Given the description of an element on the screen output the (x, y) to click on. 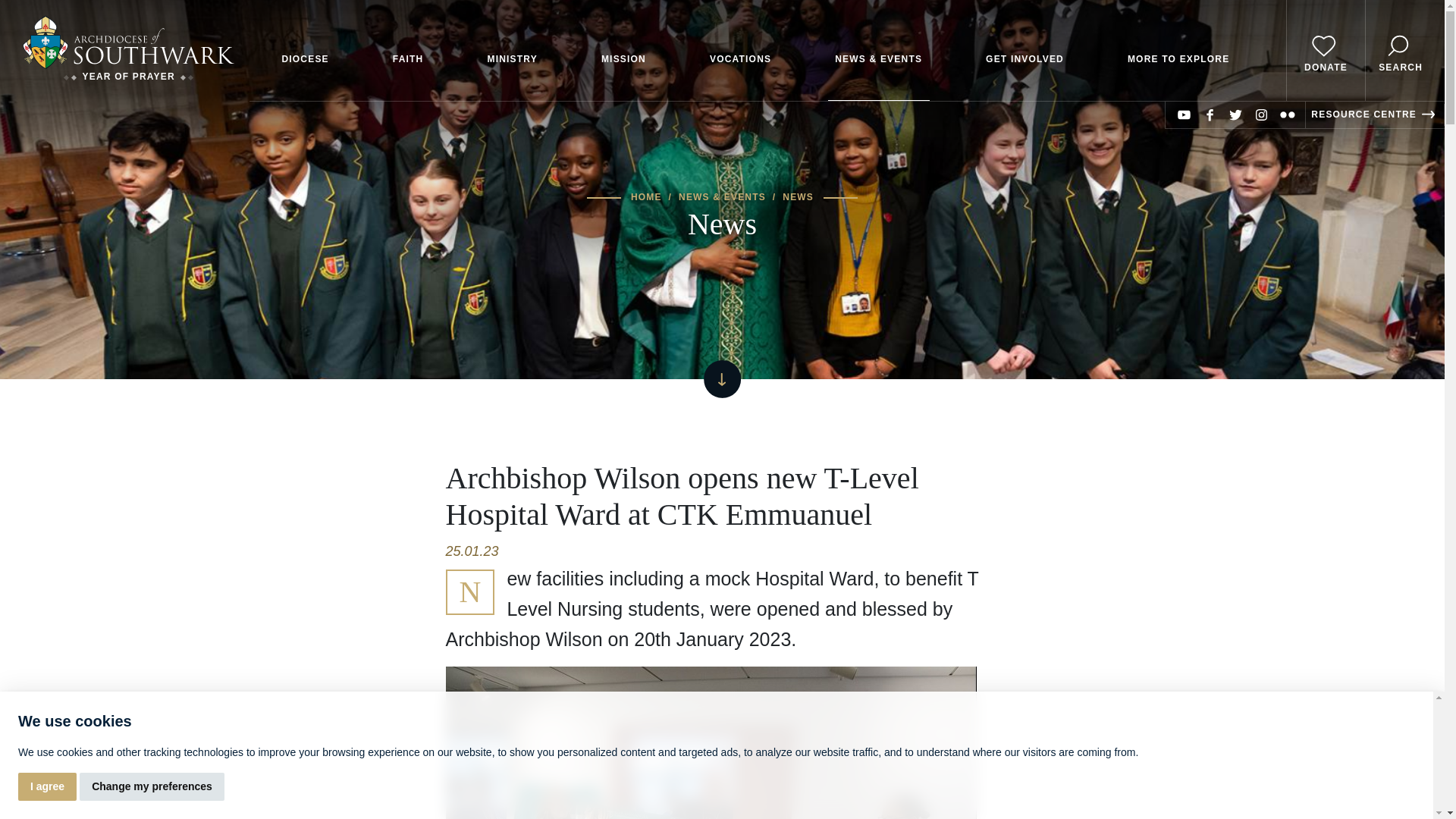
MINISTRY (512, 50)
Change my preferences (152, 786)
I agree (47, 786)
FAITH (407, 50)
MISSION (623, 50)
DIOCESE (305, 50)
